Given the description of an element on the screen output the (x, y) to click on. 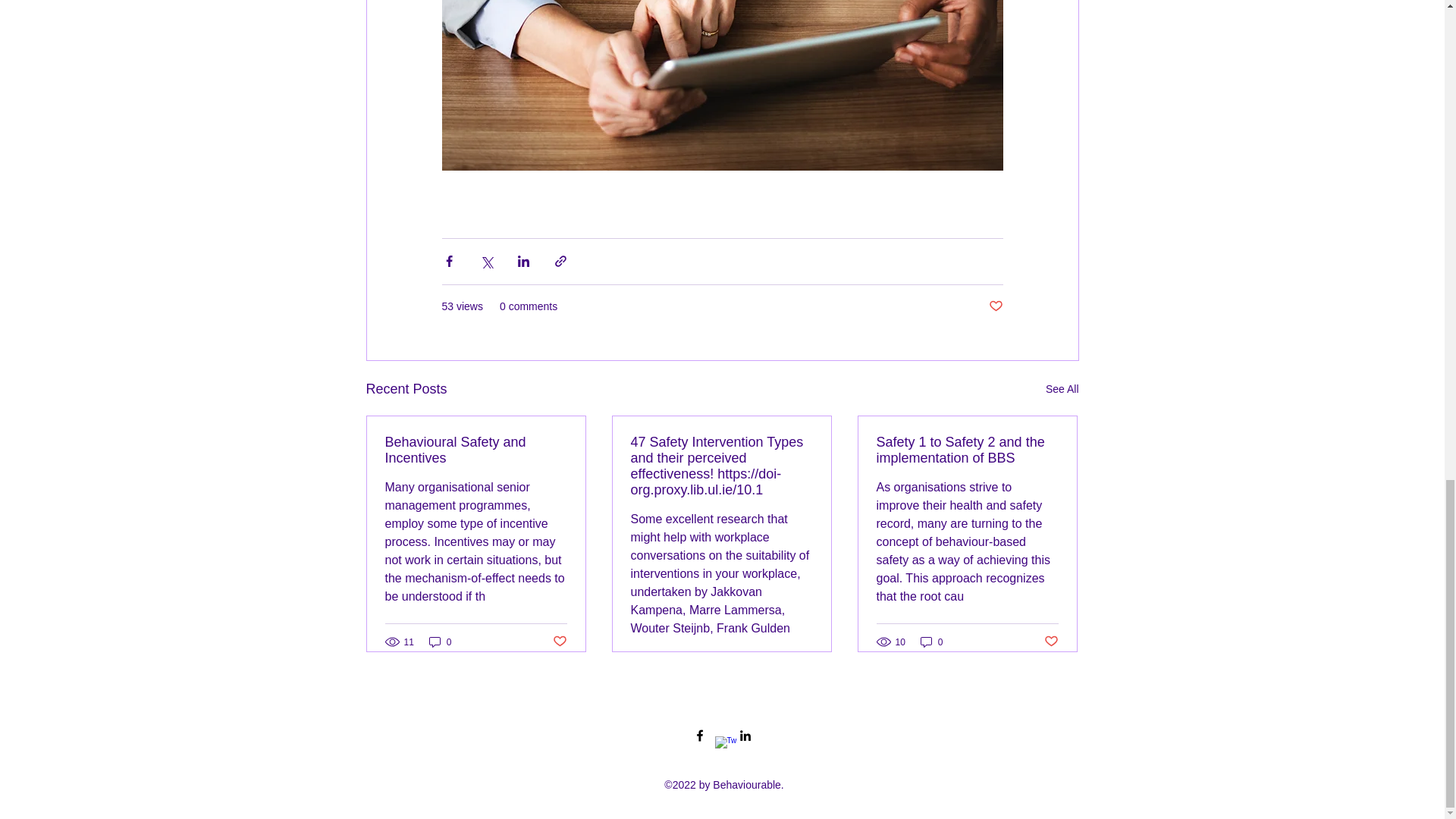
Post not marked as liked (1050, 641)
Post not marked as liked (558, 641)
See All (1061, 389)
0 (440, 641)
0 (931, 641)
Post not marked as liked (995, 306)
Behavioural Safety and Incentives (476, 450)
Safety 1 to Safety 2 and the implementation of BBS (967, 450)
